Given the description of an element on the screen output the (x, y) to click on. 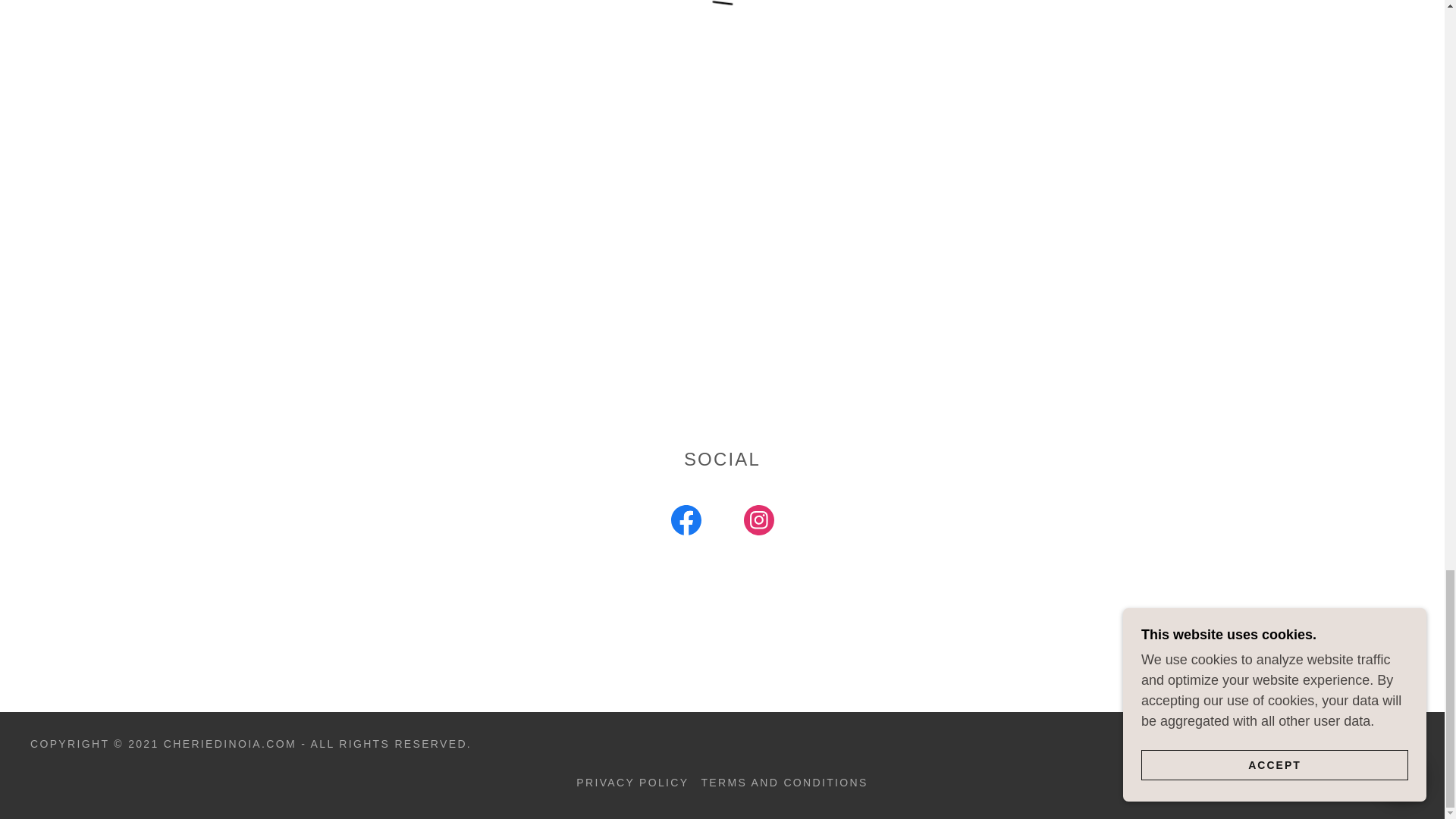
GODADDY (1380, 743)
TERMS AND CONDITIONS (783, 782)
PRIVACY POLICY (632, 782)
